Given the description of an element on the screen output the (x, y) to click on. 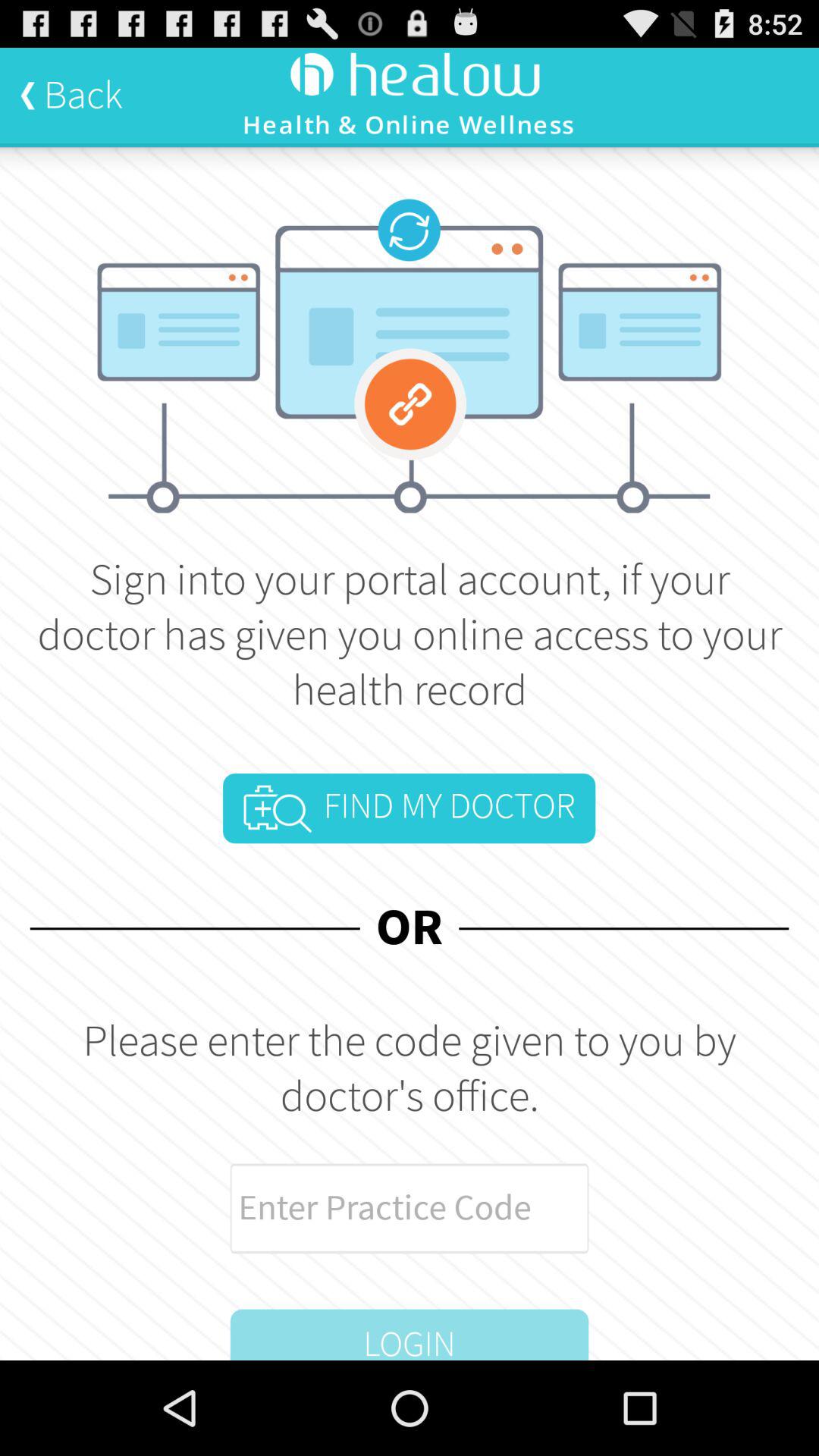
turn off find my doctor (408, 808)
